Given the description of an element on the screen output the (x, y) to click on. 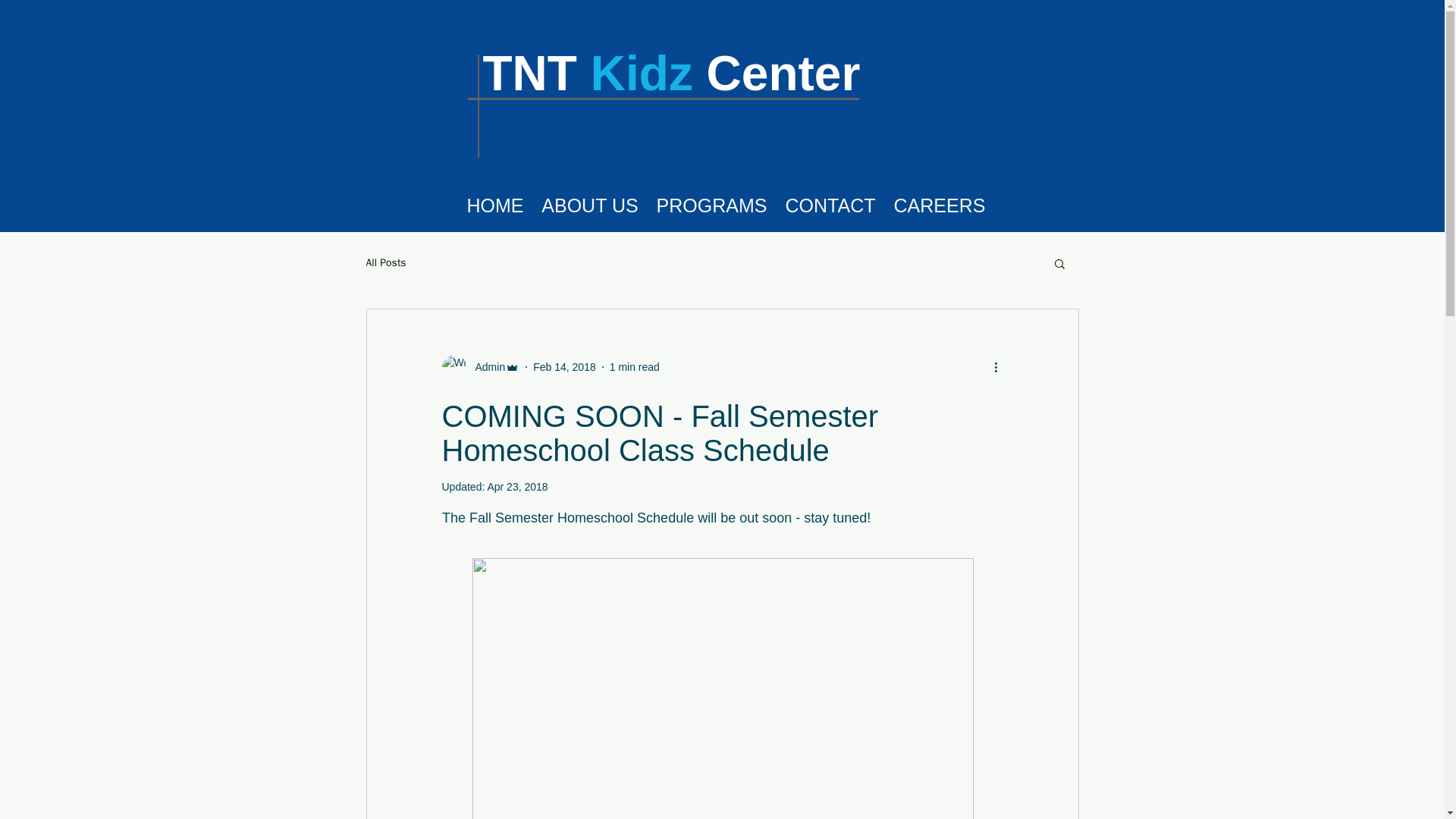
Admin (480, 366)
1 min read (634, 367)
Apr 23, 2018 (516, 486)
All Posts (385, 263)
CONTACT (830, 205)
Admin (485, 367)
CAREERS (938, 205)
HOME (495, 205)
Feb 14, 2018 (563, 367)
